Given the description of an element on the screen output the (x, y) to click on. 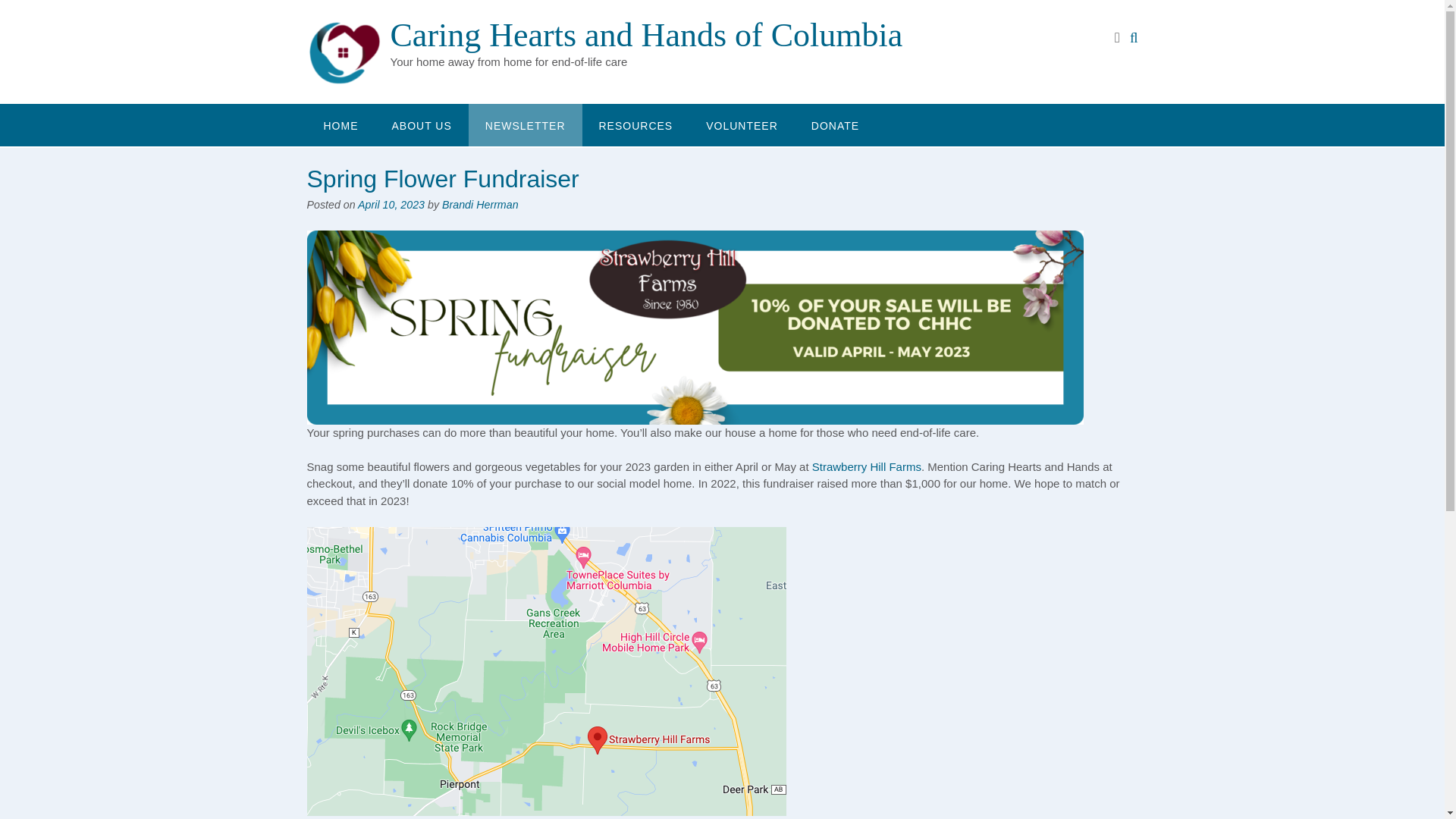
HOME (339, 125)
Caring Hearts and Hands of Columbia (646, 35)
Strawberry Hill Farms (866, 466)
April 10, 2023 (391, 204)
ABOUT US (420, 125)
RESOURCES (636, 125)
DONATE (835, 125)
Caring Hearts and Hands of Columbia (646, 35)
VOLUNTEER (741, 125)
Brandi Herrman (480, 204)
NEWSLETTER (525, 125)
Caring Hearts and Hands of Columbia (347, 53)
